Given the description of an element on the screen output the (x, y) to click on. 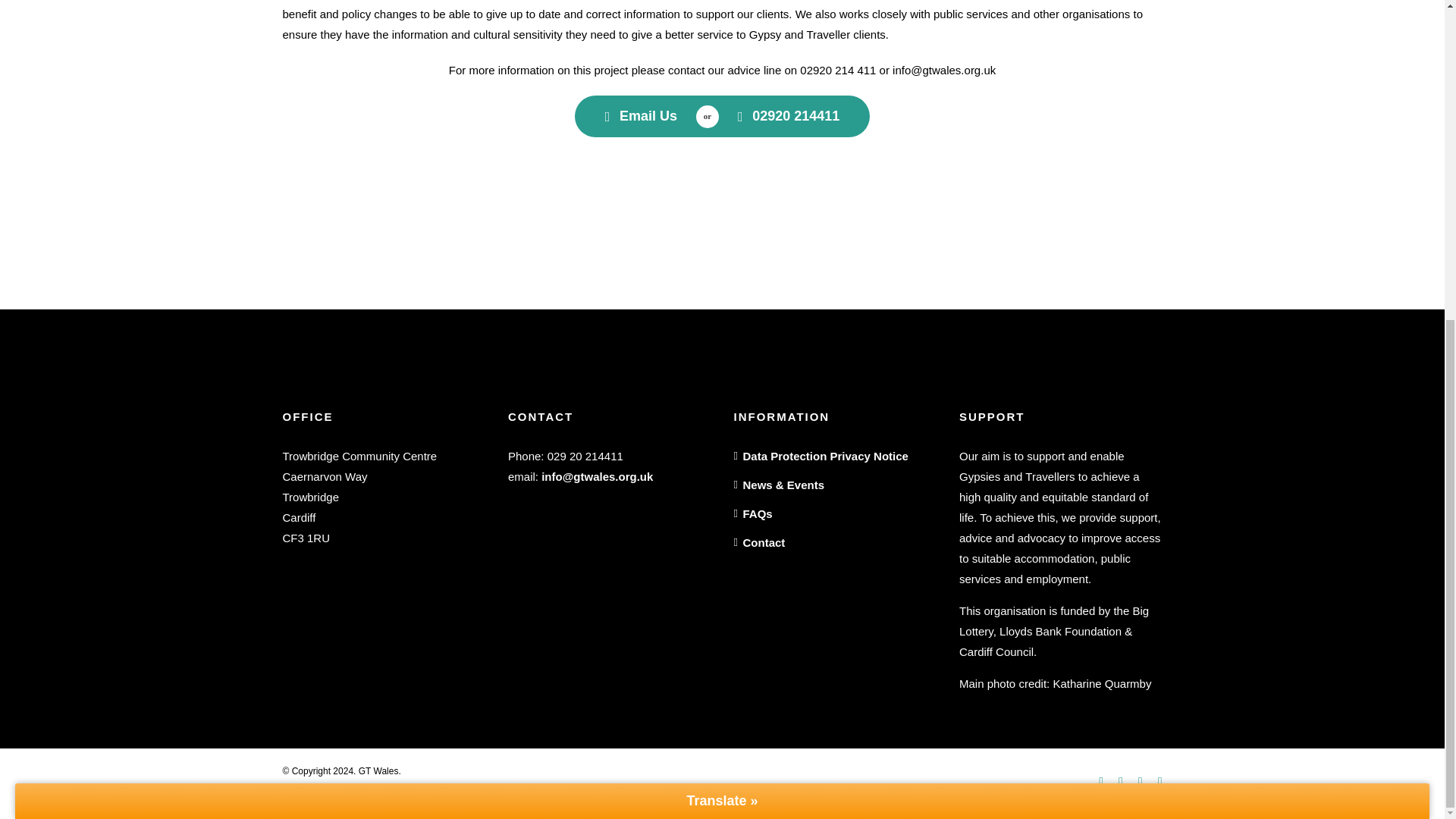
Web Design Cardiff (355, 787)
Find an event (641, 116)
Get Involved (788, 116)
